Given the description of an element on the screen output the (x, y) to click on. 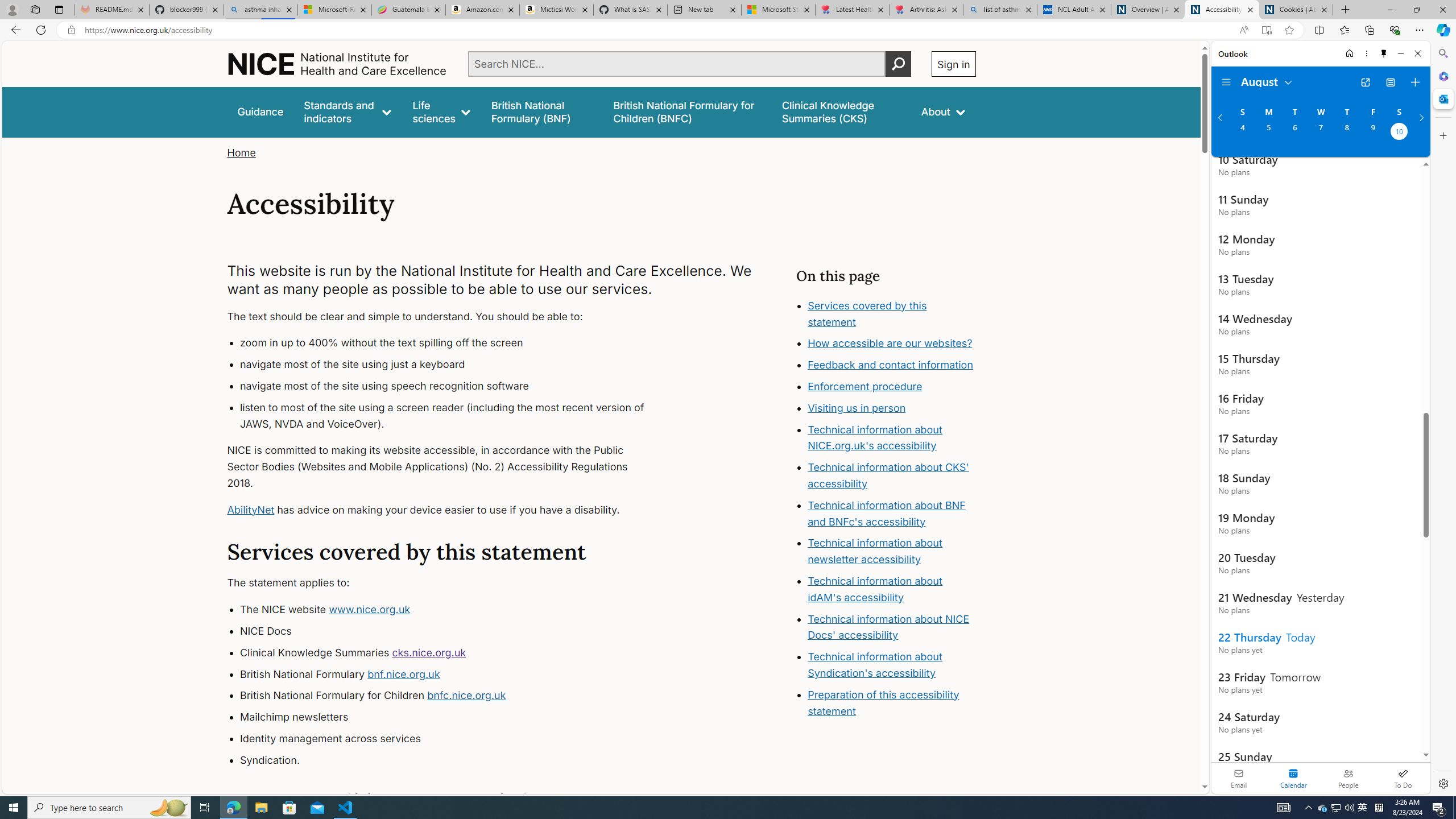
Technical information about newsletter accessibility (875, 551)
Preparation of this accessibility statement (883, 702)
Email (1238, 777)
View Switcher. Current view is Agenda view (1390, 82)
Monday, August 5, 2024.  (1268, 132)
